Given the description of an element on the screen output the (x, y) to click on. 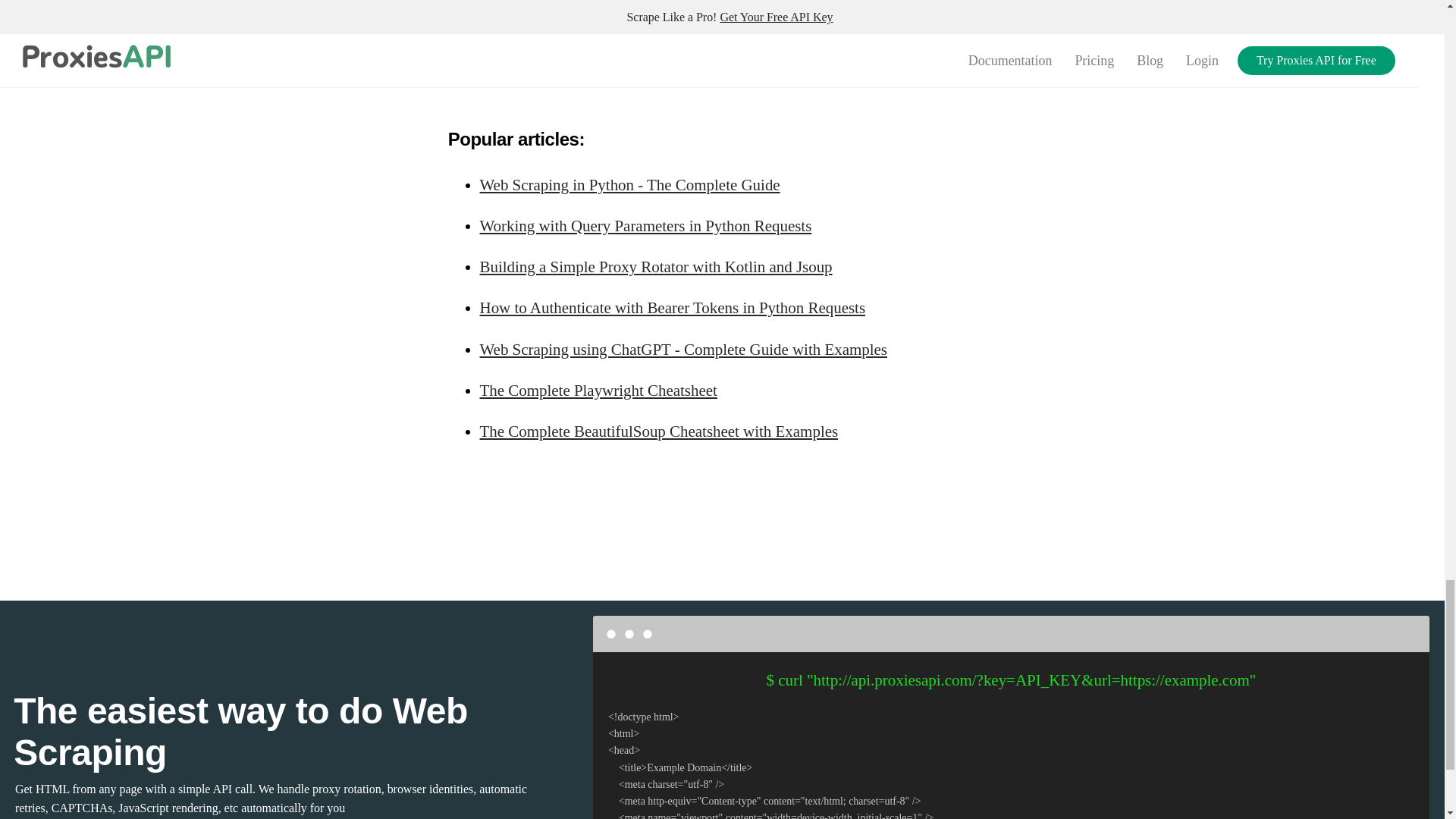
Elixir (789, 10)
Java (789, 63)
Objective-C (517, 10)
Perl (517, 63)
Web Scraping in Python - The Complete Guide (628, 185)
Scala (653, 10)
R (653, 63)
Kotlin (926, 10)
